Given the description of an element on the screen output the (x, y) to click on. 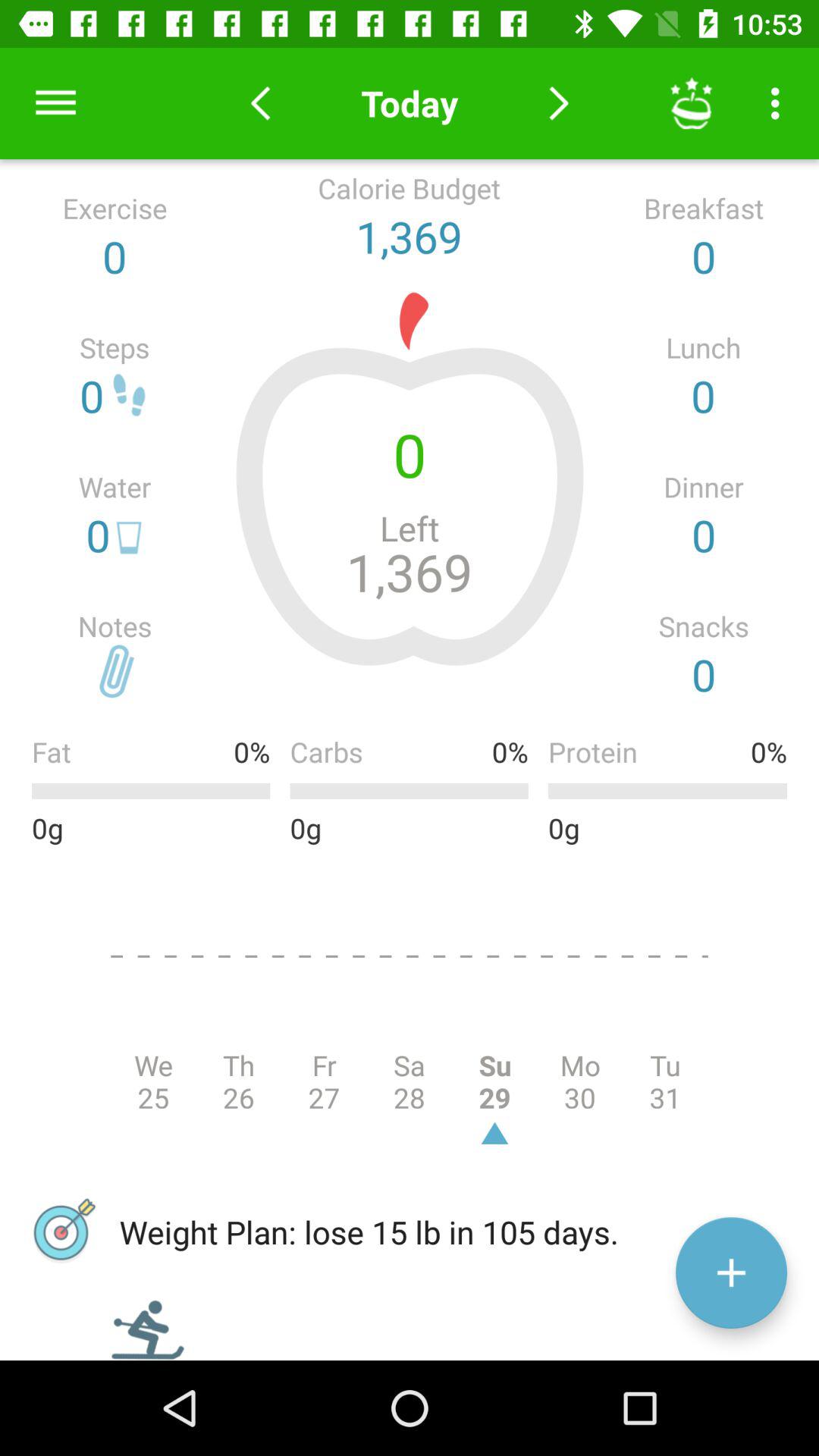
to to next day (558, 103)
